Given the description of an element on the screen output the (x, y) to click on. 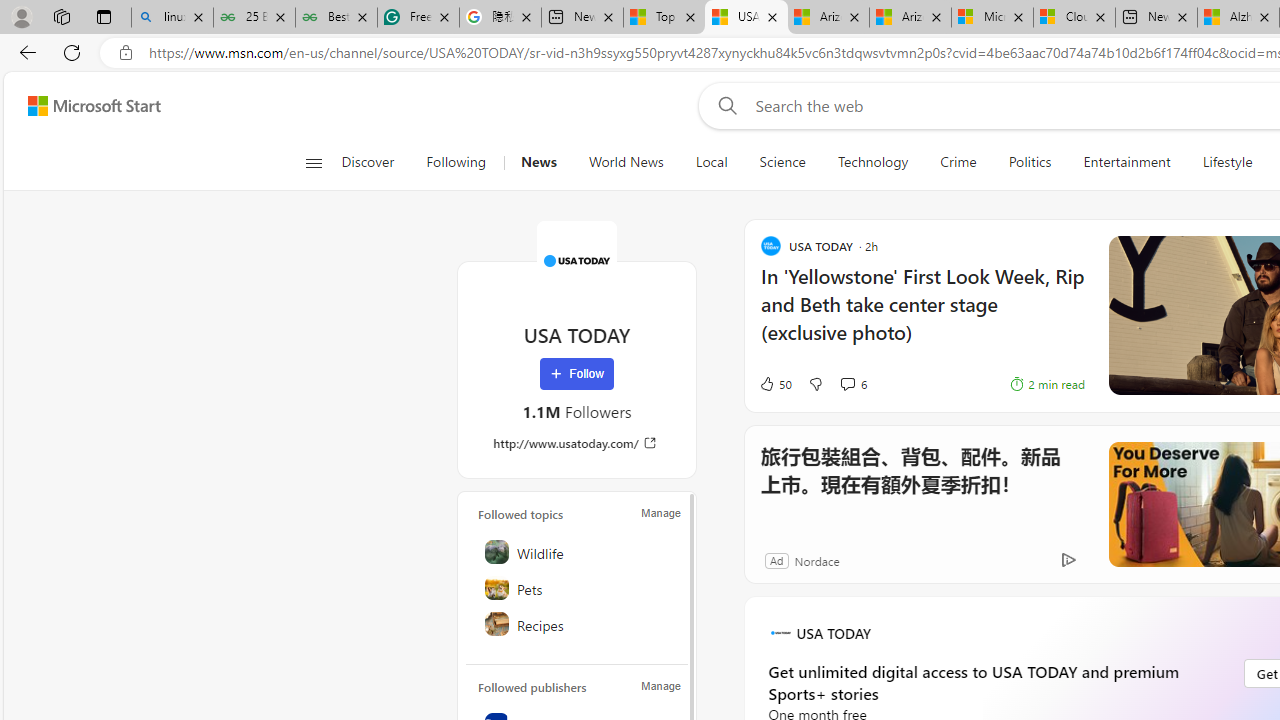
Wildlife (578, 551)
50 Like (775, 384)
linux basic - Search (171, 17)
http://www.usatoday.com/ (576, 443)
